Given the description of an element on the screen output the (x, y) to click on. 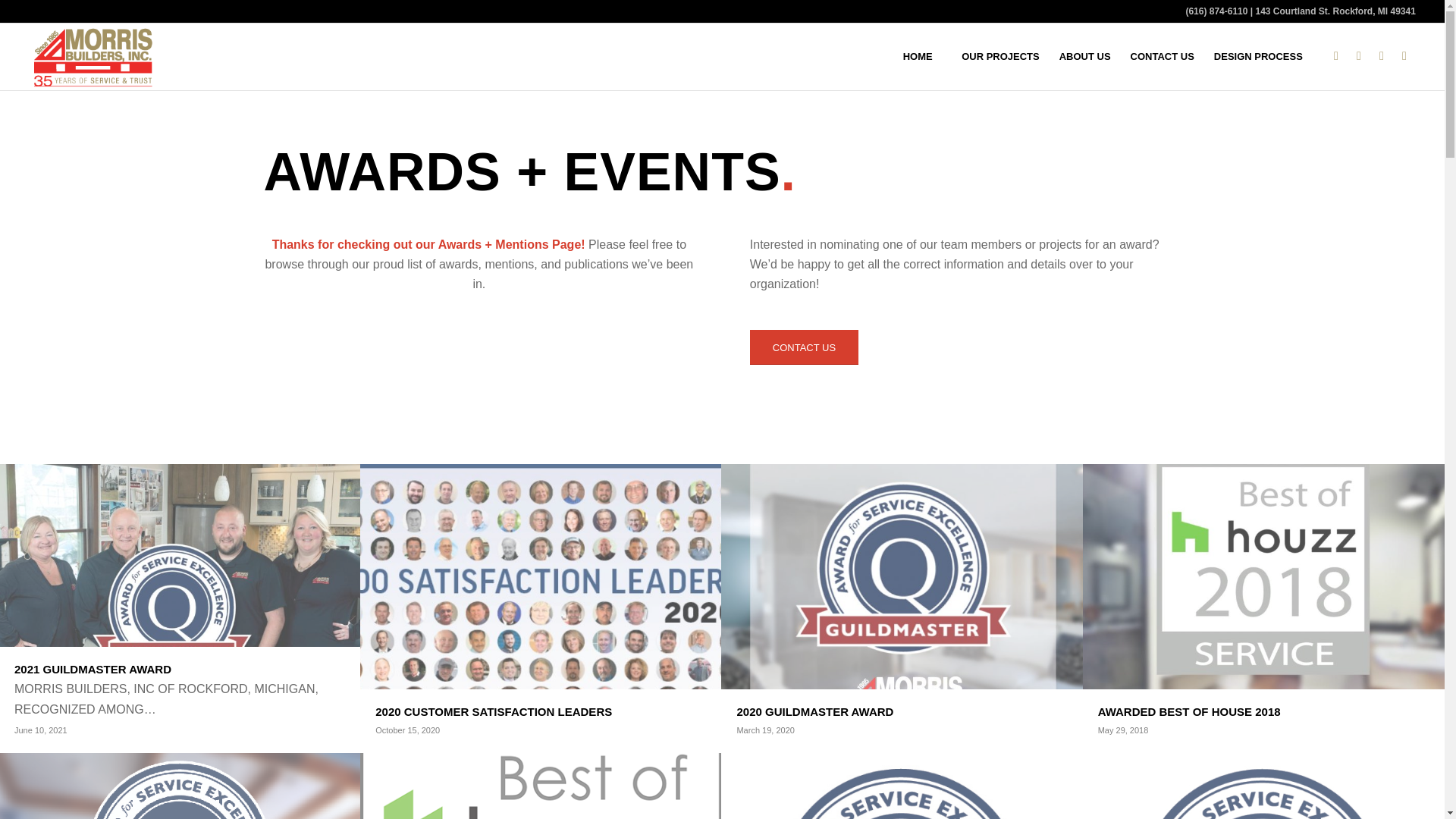
ABOUT US (1085, 56)
CONTACT US (804, 347)
Print (180, 785)
DESIGN PROCESS (1258, 56)
HOME (917, 56)
Instagram (1359, 56)
Print (180, 785)
OUR PROJECTS (180, 785)
morris-builders-guildquality-awards-2021 (1000, 56)
Facebook (180, 609)
Pinterest (902, 785)
100 (1336, 56)
100 (1381, 56)
